Given the description of an element on the screen output the (x, y) to click on. 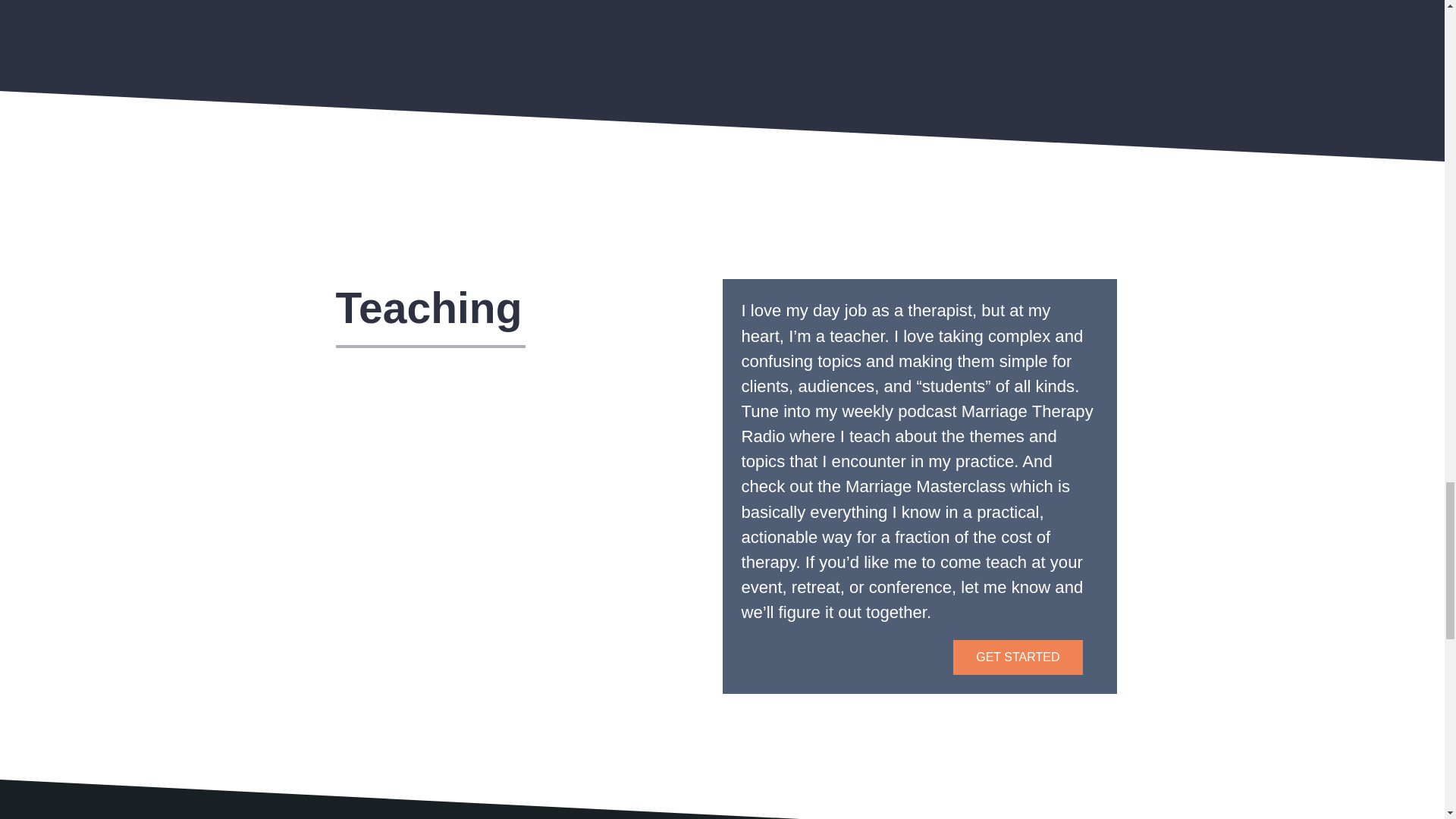
GET STARTED (1017, 656)
